Given the description of an element on the screen output the (x, y) to click on. 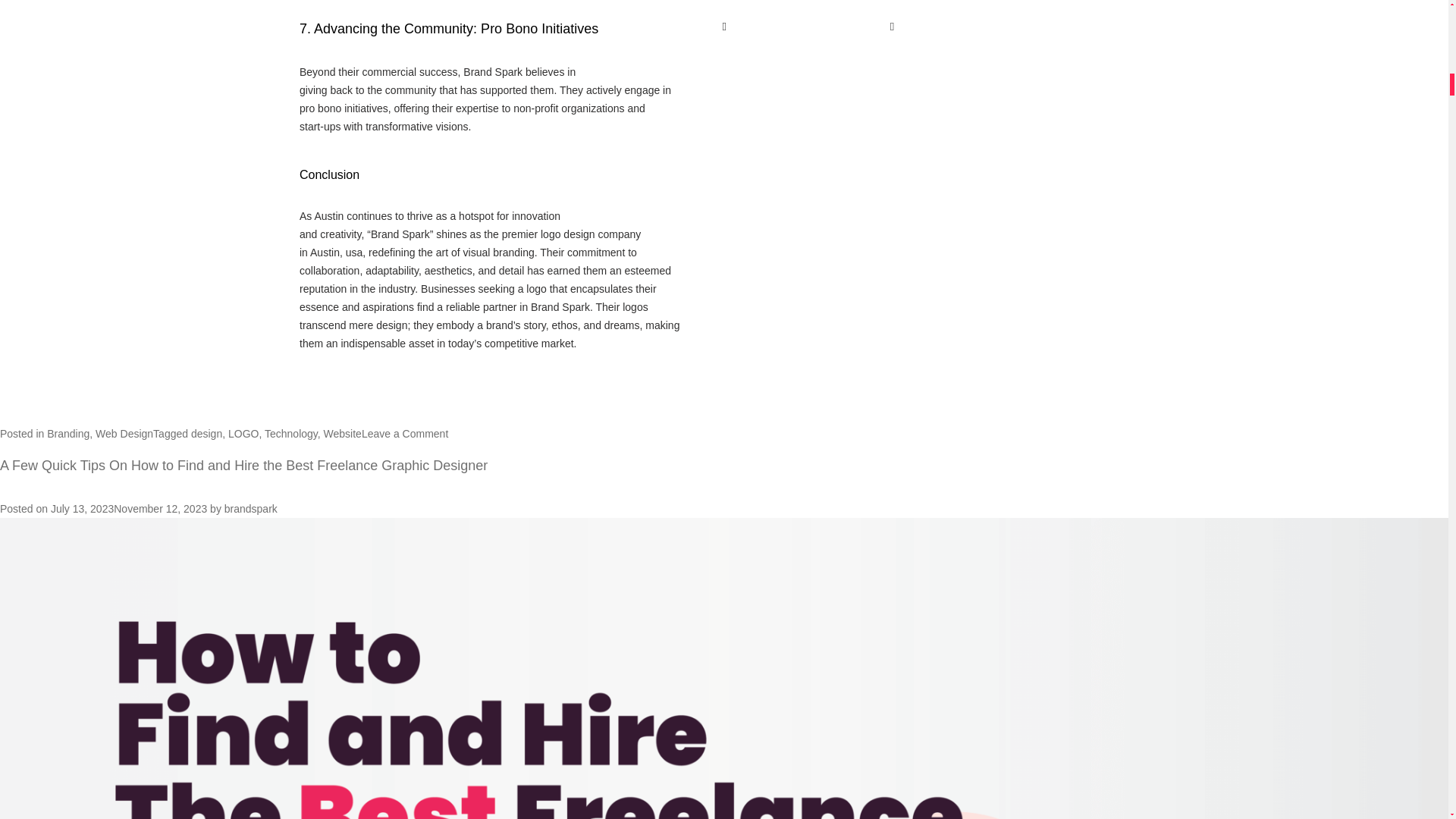
design (206, 433)
Leave a Comment (404, 433)
Branding (67, 433)
LOGO (243, 433)
Technology (290, 433)
Website (342, 433)
Web Design (124, 433)
